Given the description of an element on the screen output the (x, y) to click on. 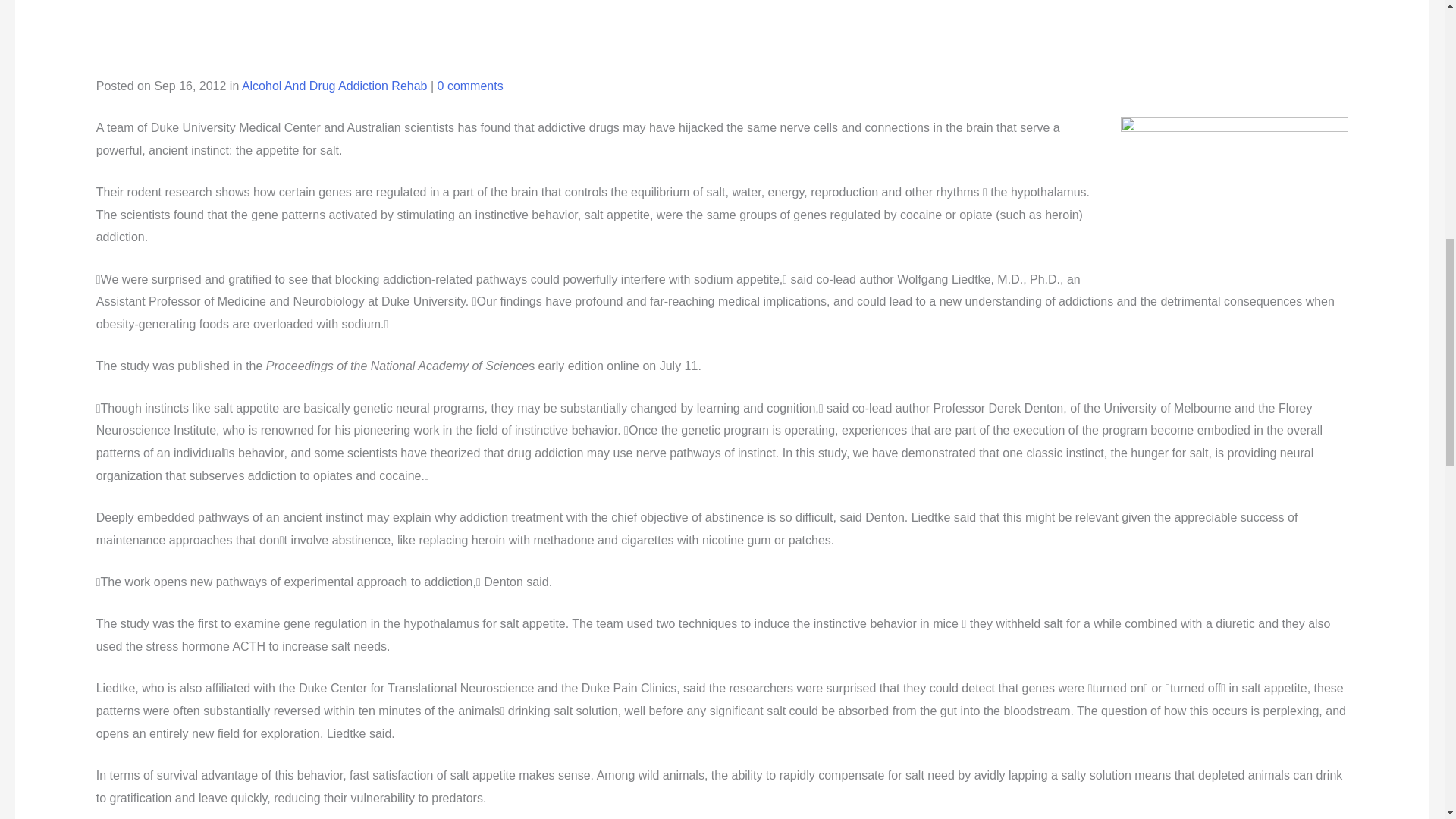
salt-crystal (1234, 202)
Comment on Drug Addiction And Salt Appetite Linked (470, 85)
View all posts in Alcohol And Drug Addiction Rehab (334, 85)
